Given the description of an element on the screen output the (x, y) to click on. 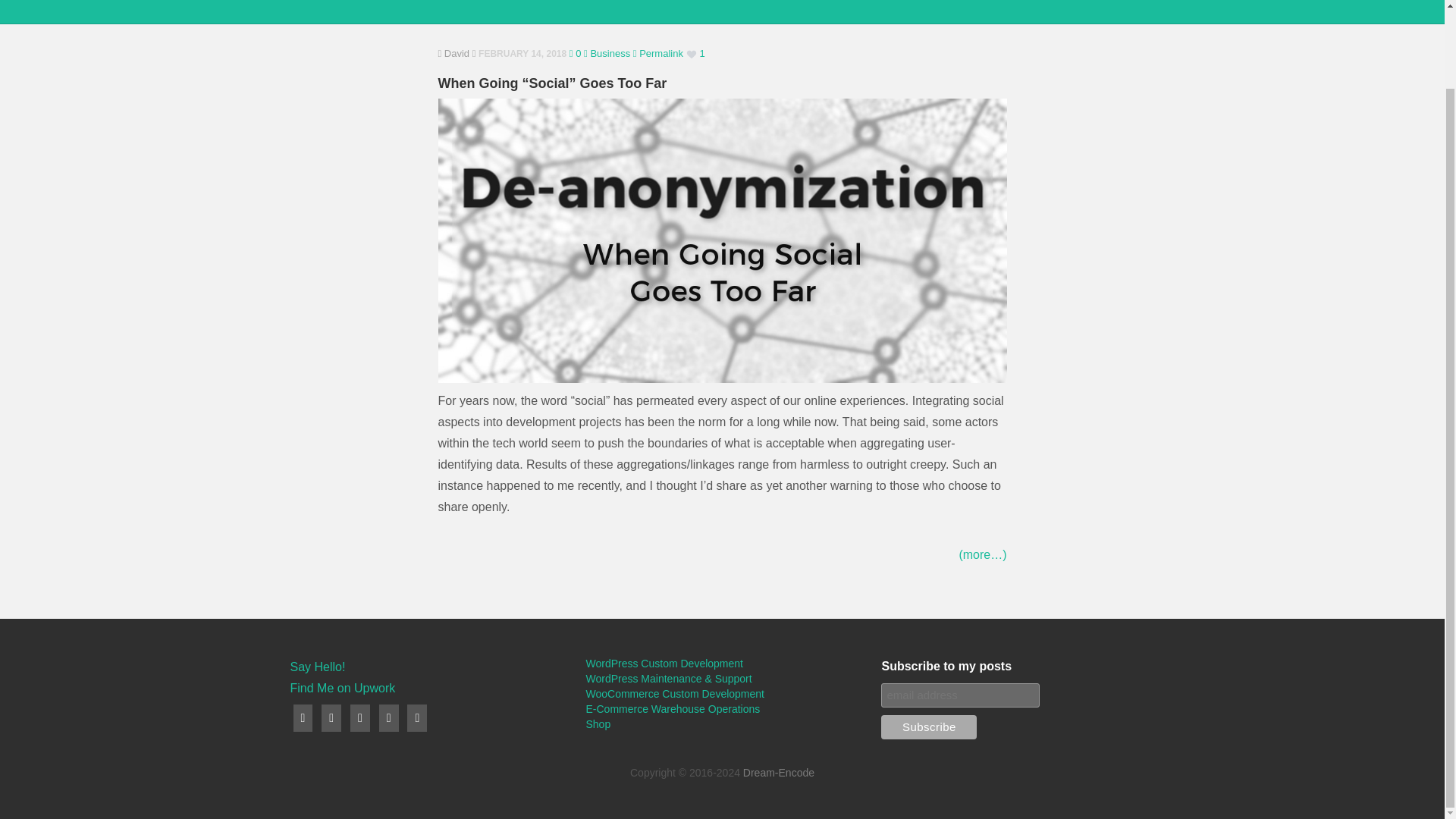
Say Hello! (317, 666)
Subscribe (928, 726)
E-Commerce Warehouse Operations (672, 708)
WordPress Custom Development (663, 663)
0 (574, 52)
Business (606, 52)
Like this (694, 53)
Find Me on Upwork (341, 687)
Permalink (657, 52)
Subscribe (928, 726)
Shop (597, 724)
WooCommerce Custom Development (674, 693)
1 (694, 53)
Dream-Encode (777, 772)
